Given the description of an element on the screen output the (x, y) to click on. 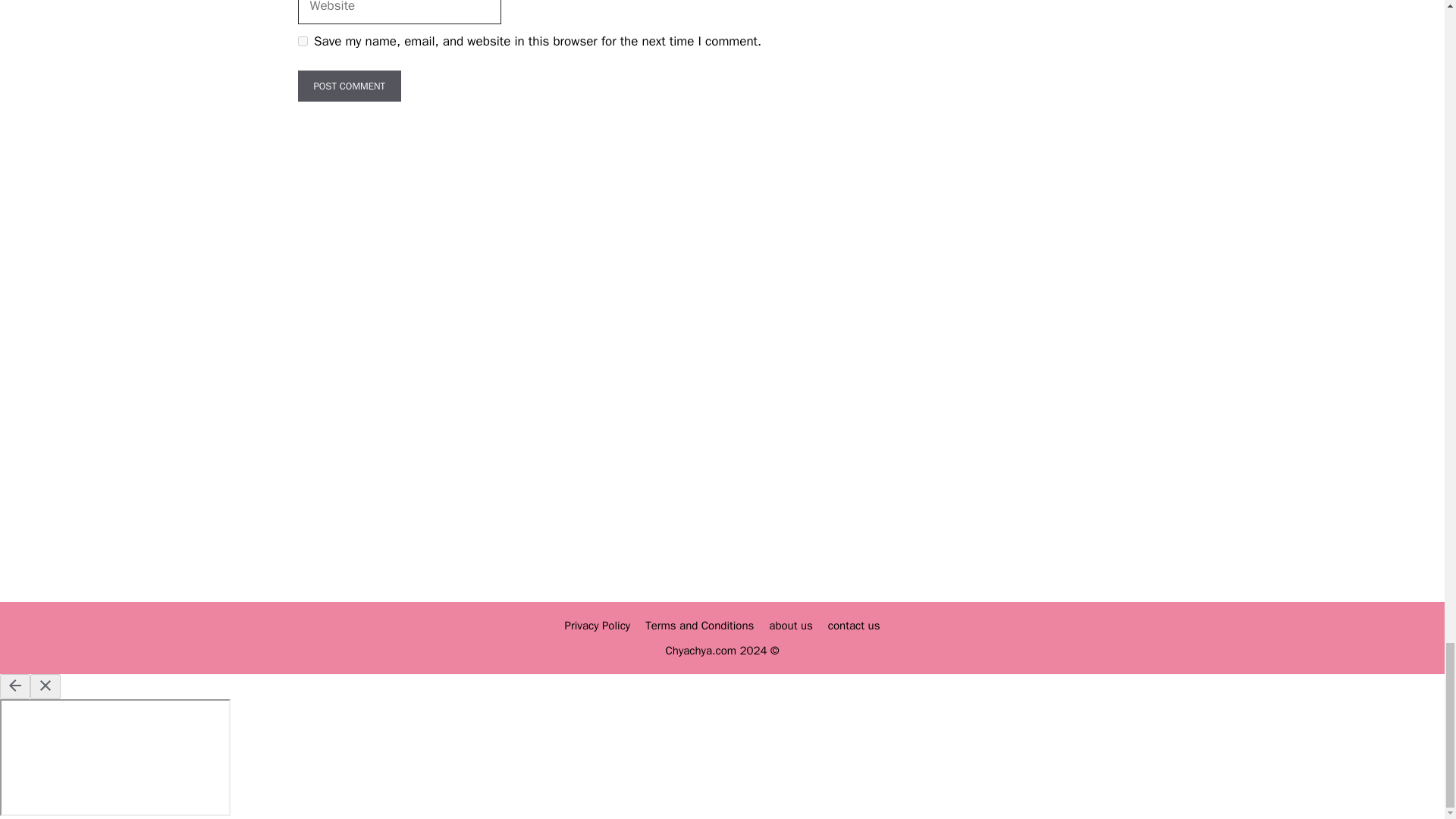
Post Comment (349, 86)
yes (302, 40)
Privacy Policy (597, 625)
contact us (854, 625)
Terms and Conditions (699, 625)
Post Comment (349, 86)
about us (790, 625)
